Given the description of an element on the screen output the (x, y) to click on. 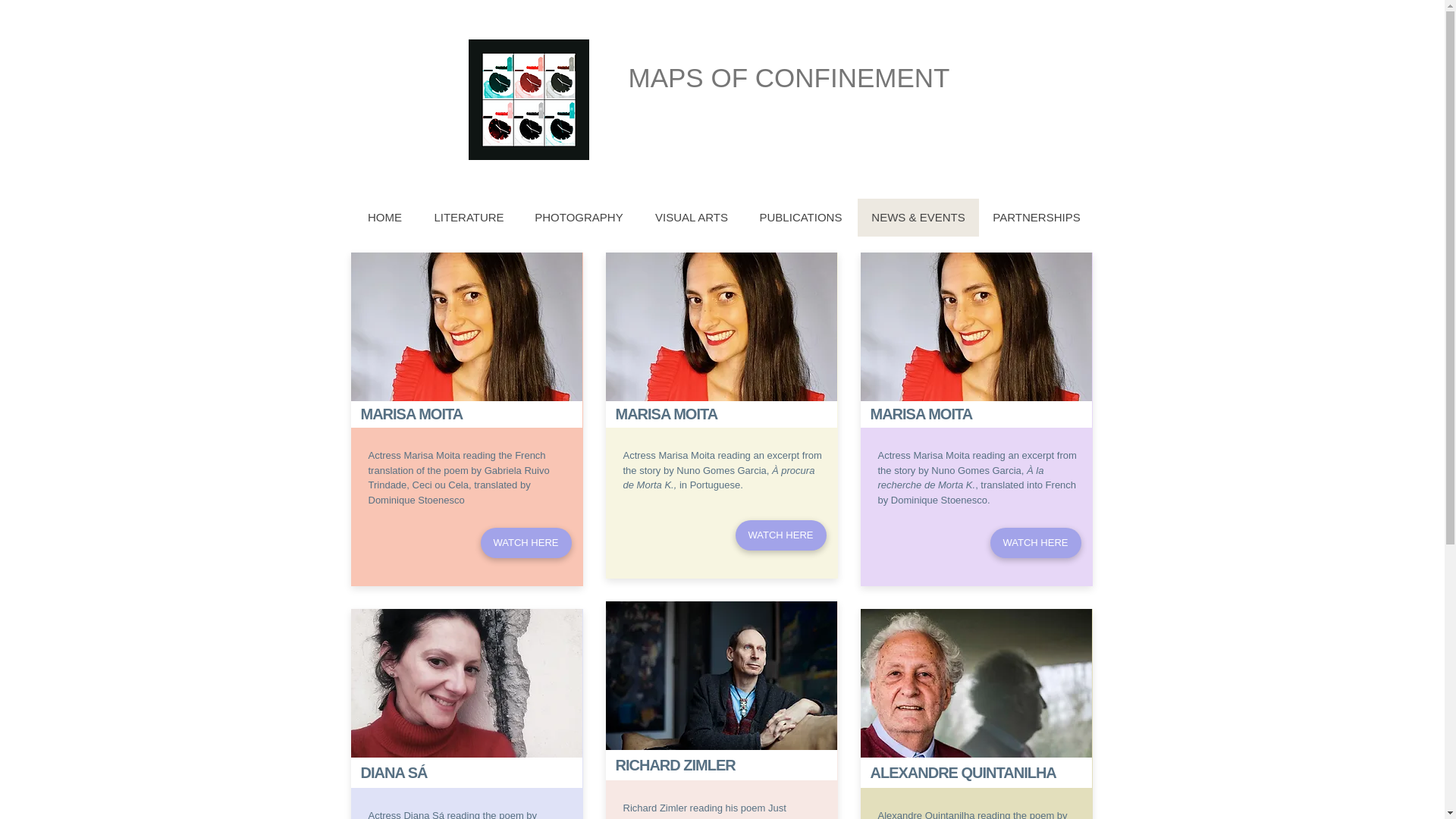
PHOTOGRAPHY (578, 217)
PARTNERSHIPS (1035, 217)
WATCH HERE (1035, 542)
WATCH HERE (781, 535)
PUBLICATIONS (799, 217)
VISUAL ARTS (690, 217)
WATCH HERE (526, 542)
LITERATURE (468, 217)
HOME (384, 217)
